Given the description of an element on the screen output the (x, y) to click on. 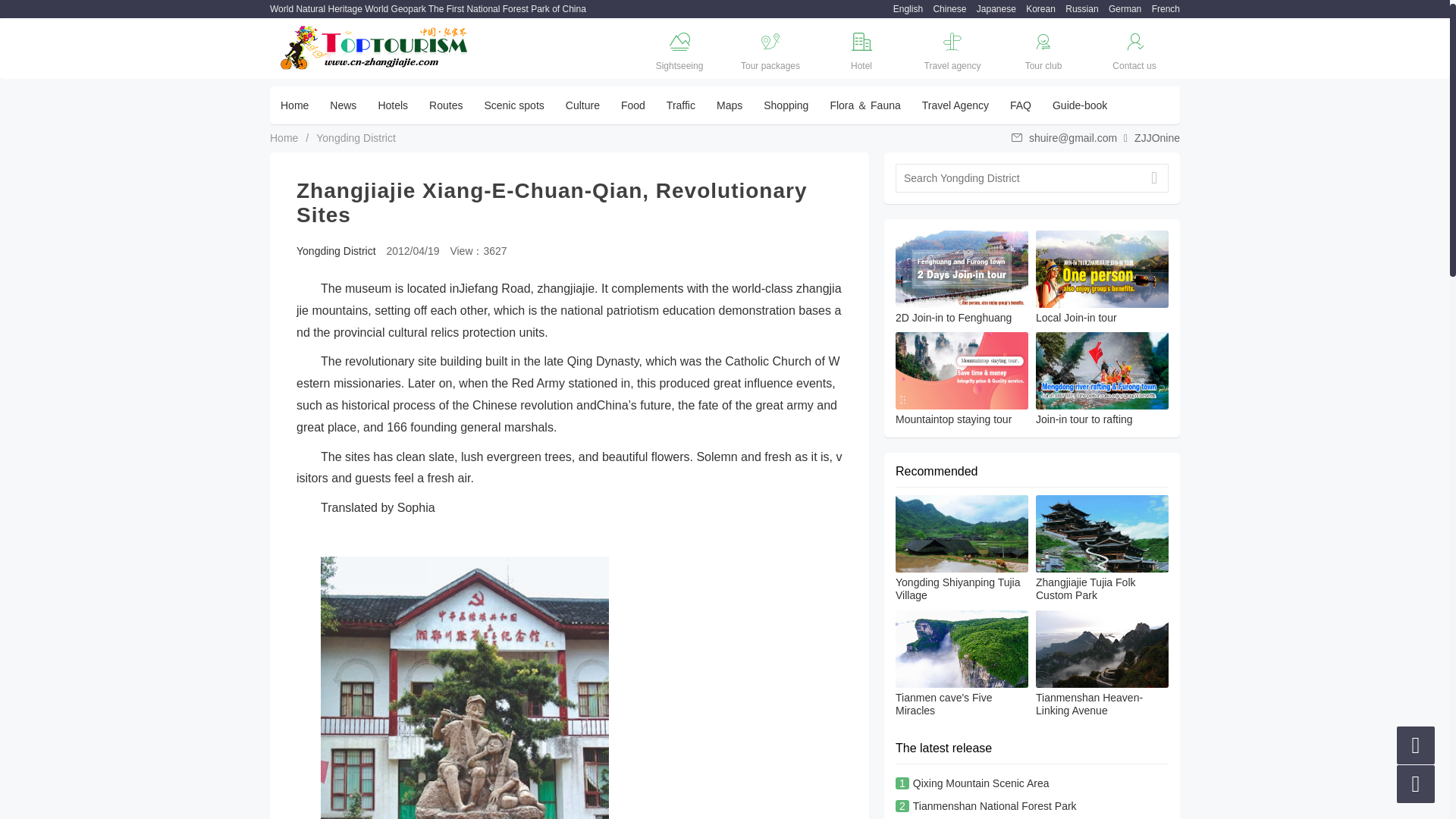
HotelsZhangjiajie Tourism Information Web (392, 105)
German (1120, 9)
Zhangjiajie Tourism Information Website (374, 46)
Hotels (392, 105)
English (904, 9)
Zhangjiajie Tourism Information Web (904, 9)
Routes (446, 105)
News-Zhangjiajie Tourism Information Web (342, 105)
Japanese (992, 9)
Russian (1077, 9)
News (342, 105)
Home (293, 105)
RoutesZhangjiajie Tourism Information Web (446, 105)
Korean (1036, 9)
Chinese (945, 9)
